Given the description of an element on the screen output the (x, y) to click on. 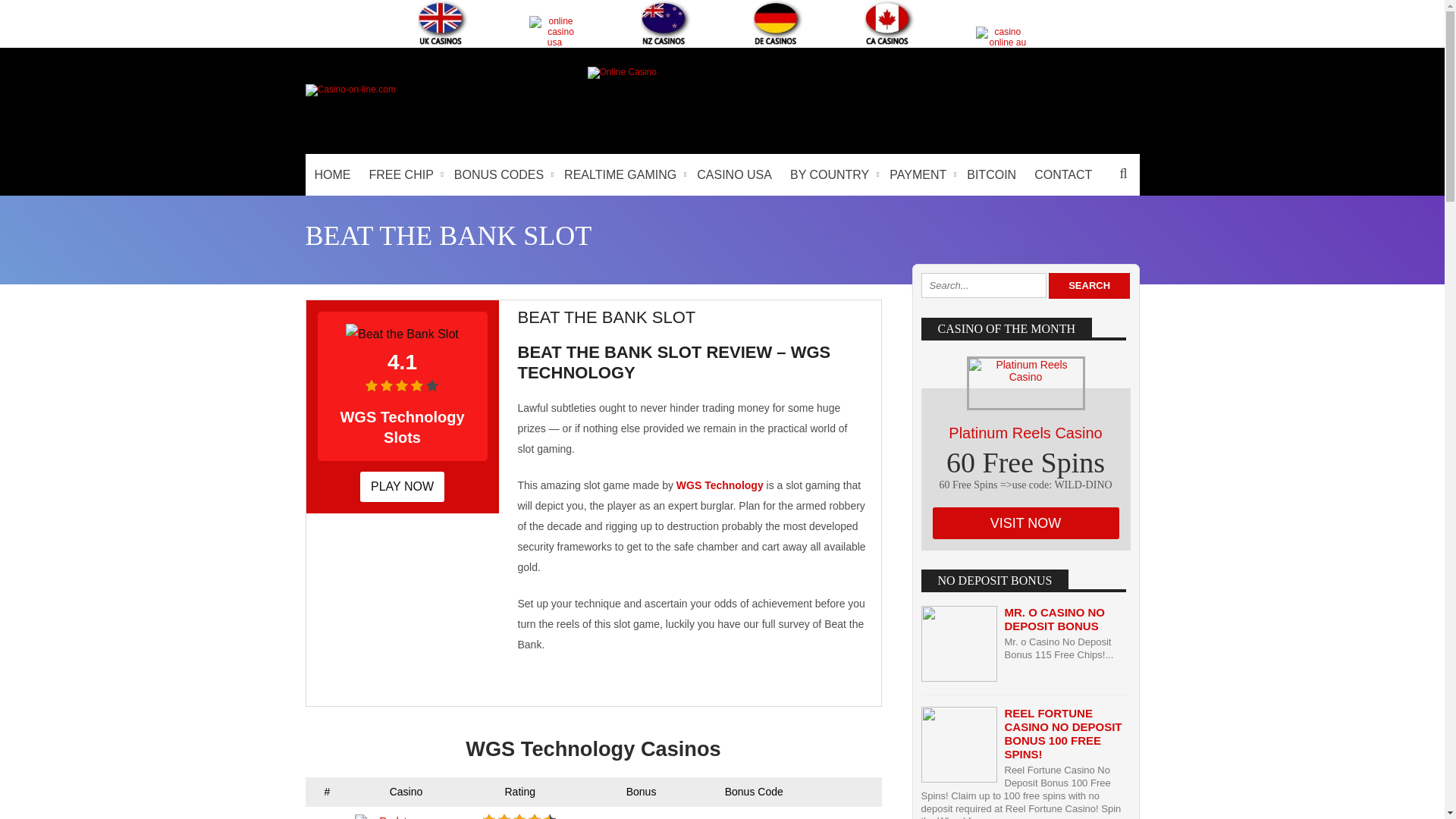
Reel Fortune Casino No Deposit Bonus 100 Free Spins! (1062, 733)
US Casinos (554, 31)
Search (1089, 285)
NZ Casinos (665, 22)
Search (1089, 285)
AU Casinos (1000, 36)
HOME (331, 174)
FREE CHIP (401, 174)
Mr. o Casino No Deposit Bonus (1054, 619)
Casino-on-line.com (349, 89)
